Given the description of an element on the screen output the (x, y) to click on. 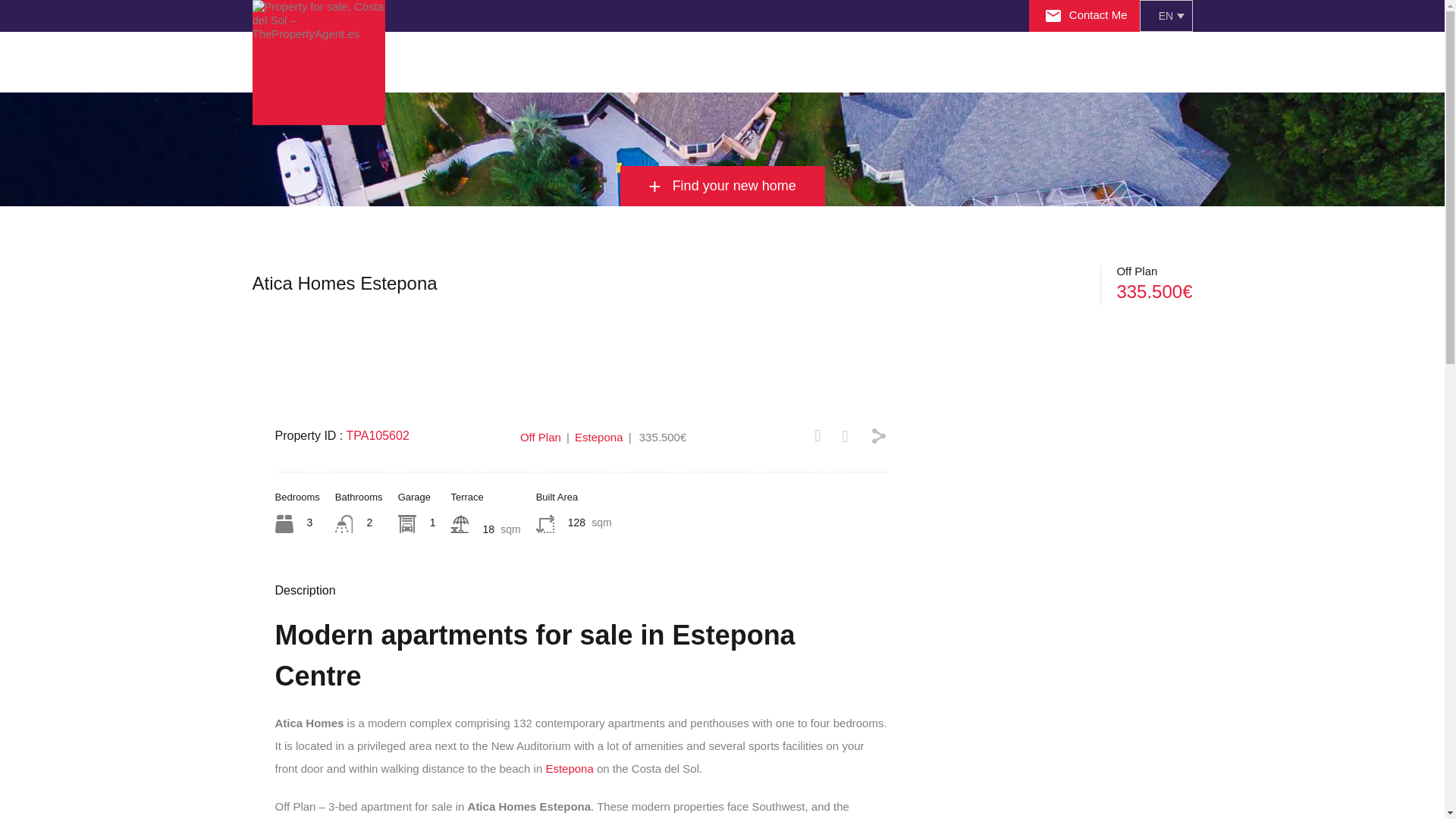
Costa del Sol Area Guides (606, 62)
Why Choose Me (507, 62)
Quick Links (694, 62)
Contact Me (1085, 14)
Home (424, 62)
EN (1165, 15)
Area Guides (606, 62)
About Celeste aka The Property Agent (507, 62)
Get in touch! (882, 62)
